Given the description of an element on the screen output the (x, y) to click on. 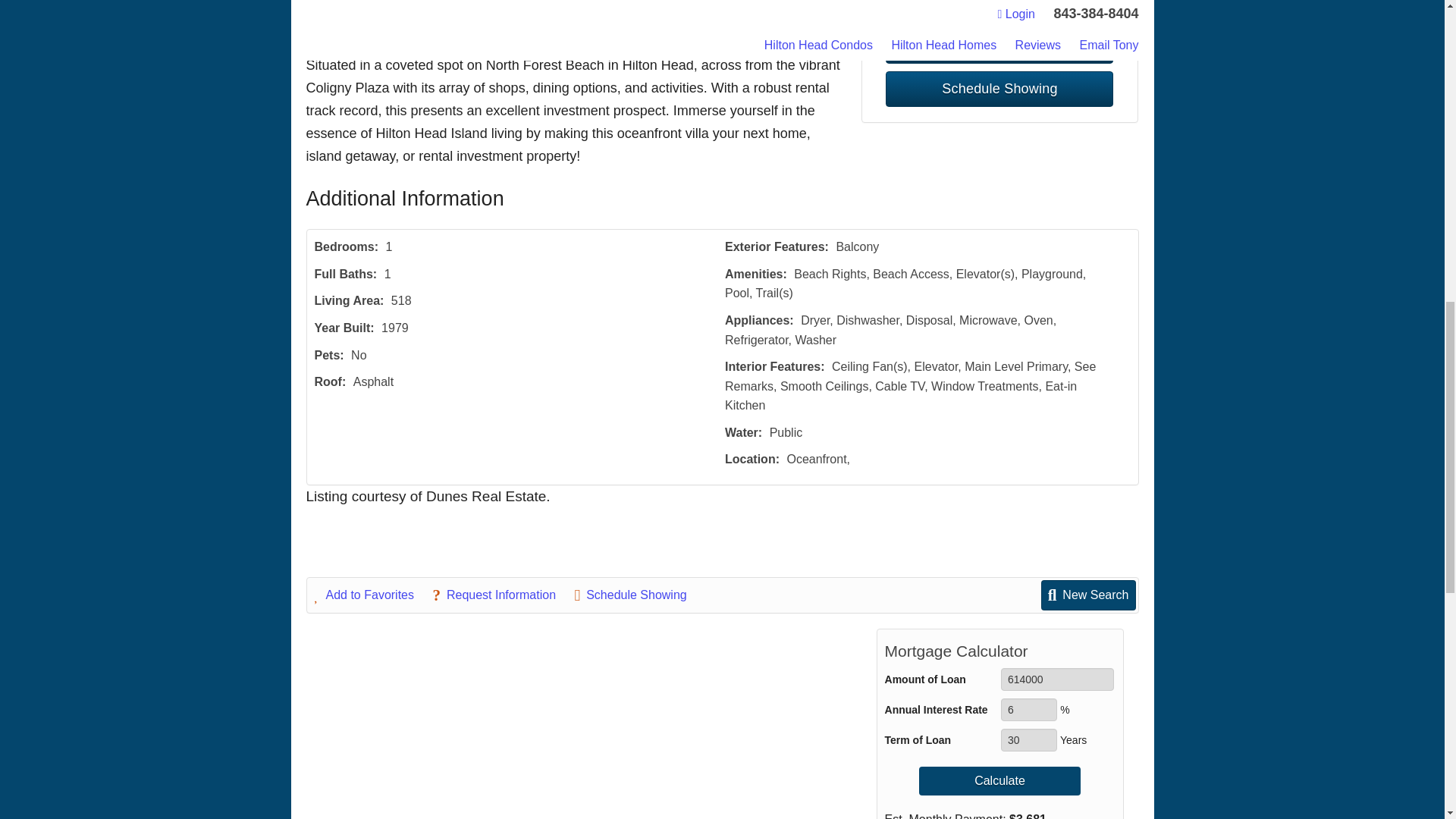
Schedule Showing (999, 89)
614000 (1057, 679)
843-384-8404 (999, 6)
6 (1029, 709)
30 (1029, 739)
Contact Us (999, 45)
